Given the description of an element on the screen output the (x, y) to click on. 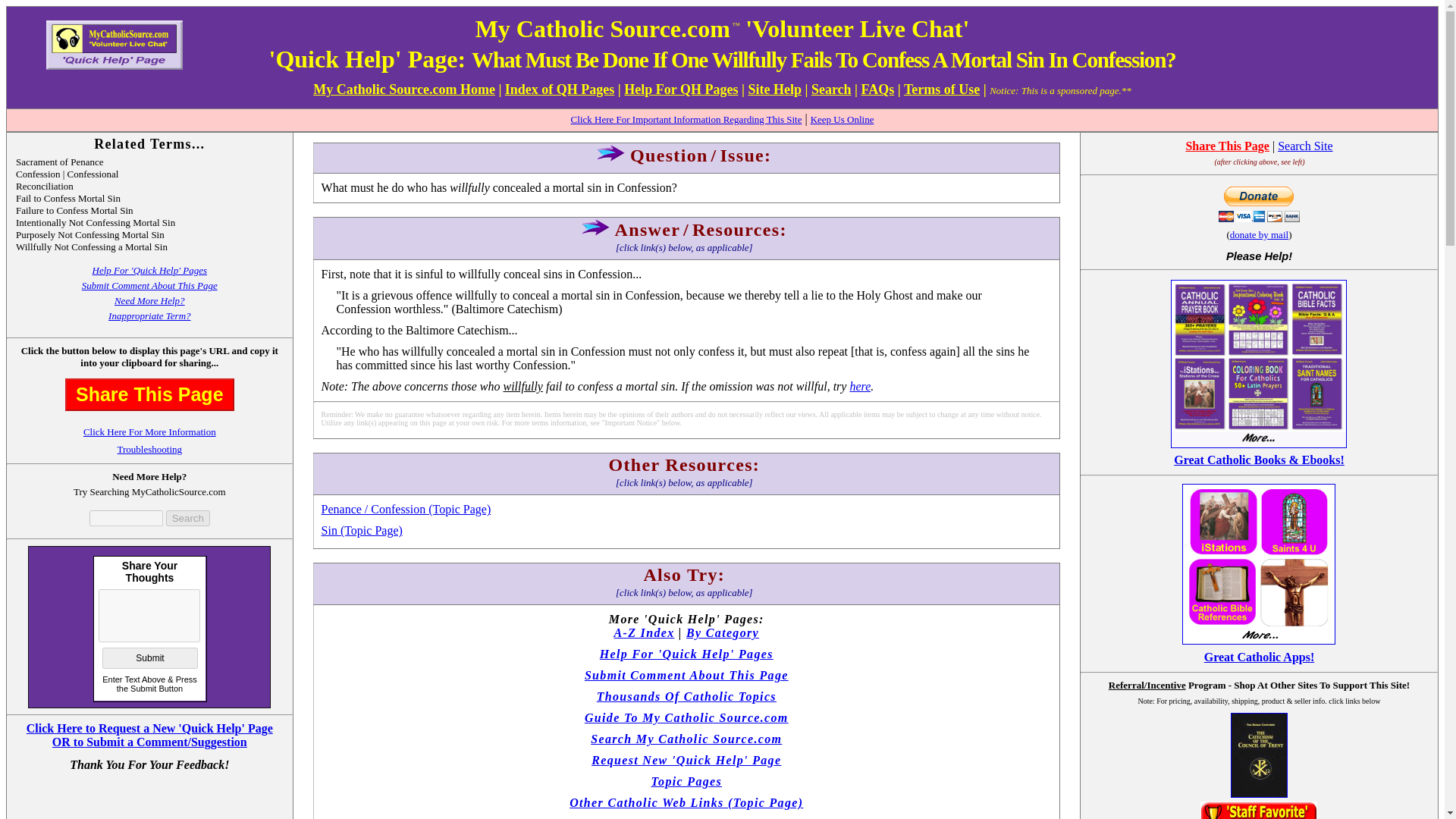
By Category (721, 632)
Thousands Of Catholic Topics (686, 696)
Related Terms... (149, 143)
Keep Us Online (842, 119)
MyCatholicSource.com: 'Quick Help' Page (114, 44)
Search (830, 89)
Submit Comment About This Page (687, 675)
Search (187, 518)
Click Here For More Information (148, 431)
Help For QH Pages (681, 89)
Share This Page (1227, 145)
Request New 'Quick Help' Page (685, 759)
Inappropriate Term? (148, 315)
Search My Catholic Source.com (686, 738)
Help For 'Quick Help' Pages (149, 270)
